Given the description of an element on the screen output the (x, y) to click on. 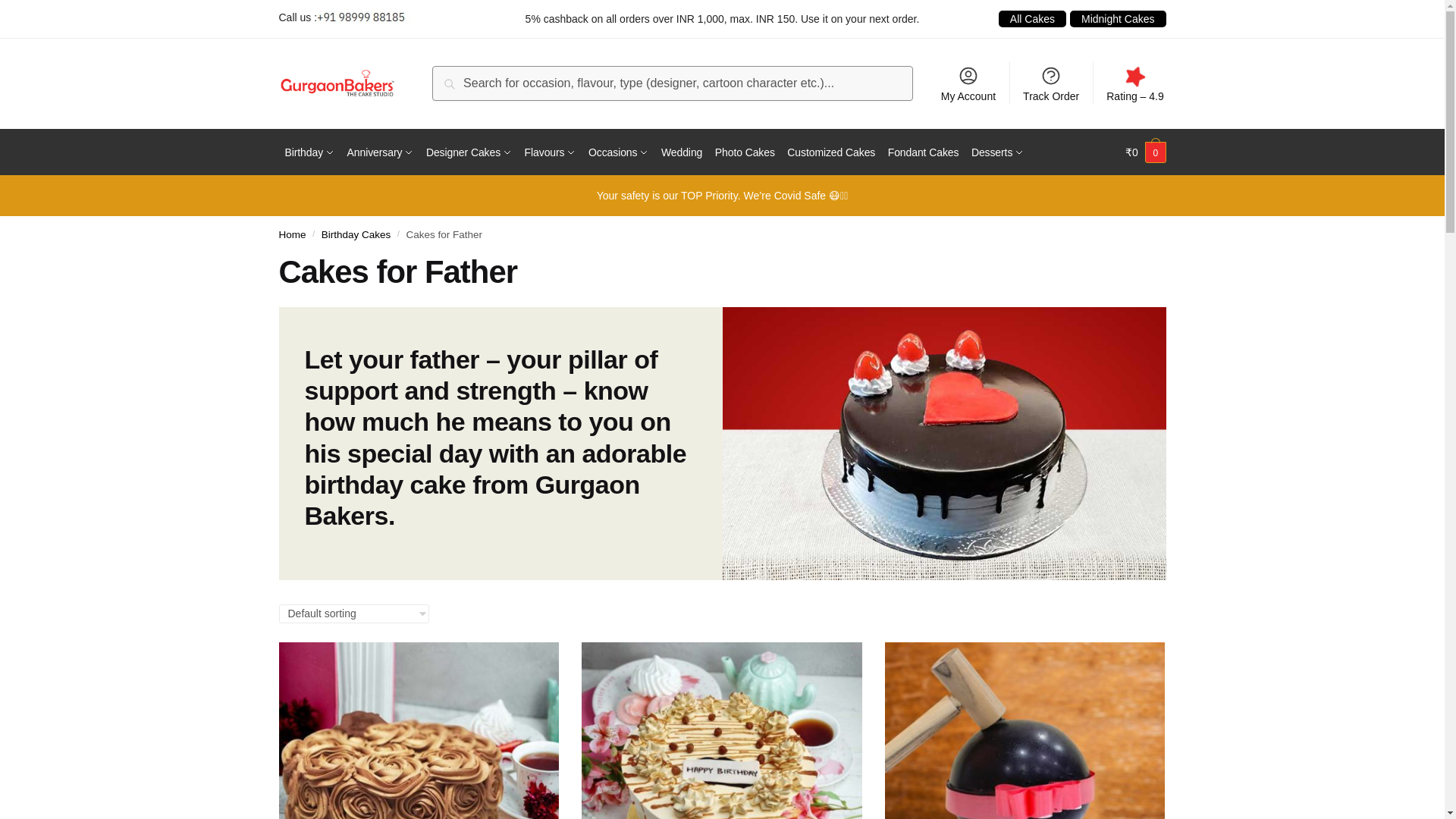
All Cakes (1031, 18)
A Creamy Butterscotch Cake (720, 730)
Birthday (309, 152)
Search (468, 85)
Anniversary (380, 152)
A Sphere Pinata Cake (1025, 730)
Track Order (1051, 83)
Midnight Cakes (1118, 18)
Designer Cakes (469, 152)
A Chocolate Mocha Cake (419, 730)
My Account (967, 83)
